Given the description of an element on the screen output the (x, y) to click on. 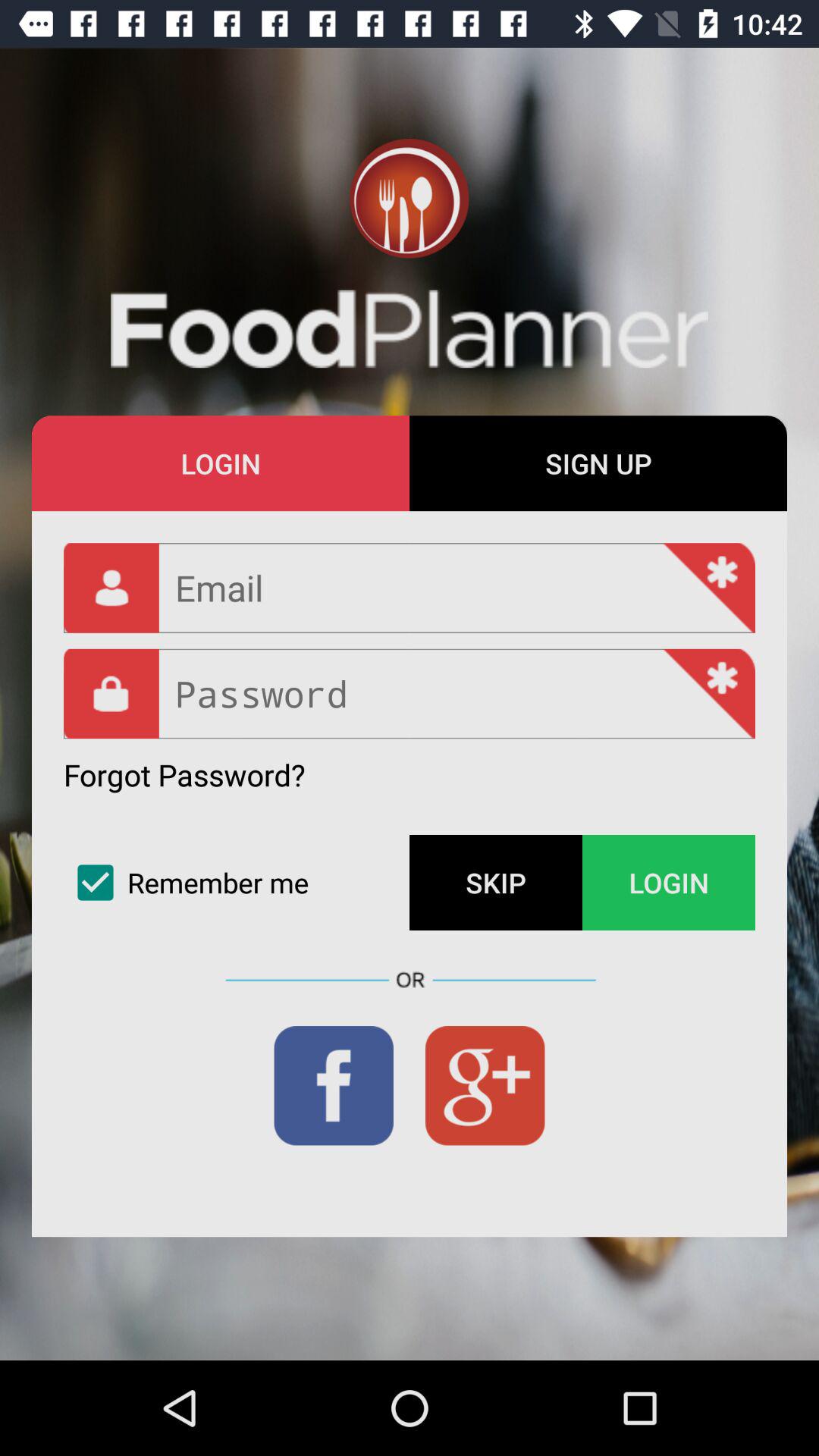
type password bar (409, 693)
